Given the description of an element on the screen output the (x, y) to click on. 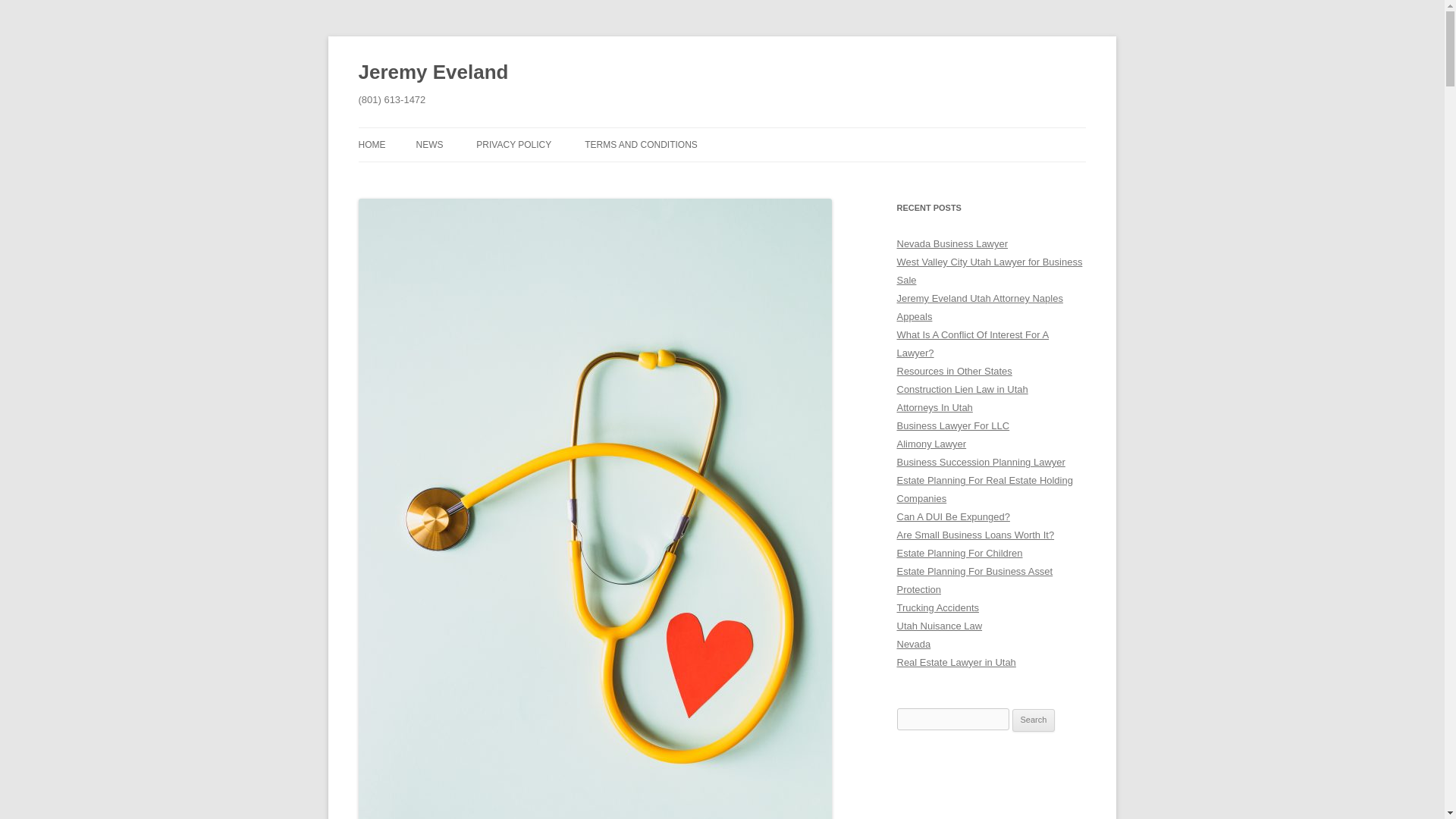
Are Small Business Loans Worth It? (975, 534)
Nevada Business Lawyer (951, 243)
Trucking Accidents (937, 607)
Estate Planning For Business Asset Protection (974, 580)
What Is A Conflict Of Interest For A Lawyer? (972, 343)
Construction Lien Law in Utah (961, 389)
TERMS AND CONDITIONS (641, 144)
Can A DUI Be Expunged? (952, 516)
Business Lawyer For LLC (952, 425)
